Given the description of an element on the screen output the (x, y) to click on. 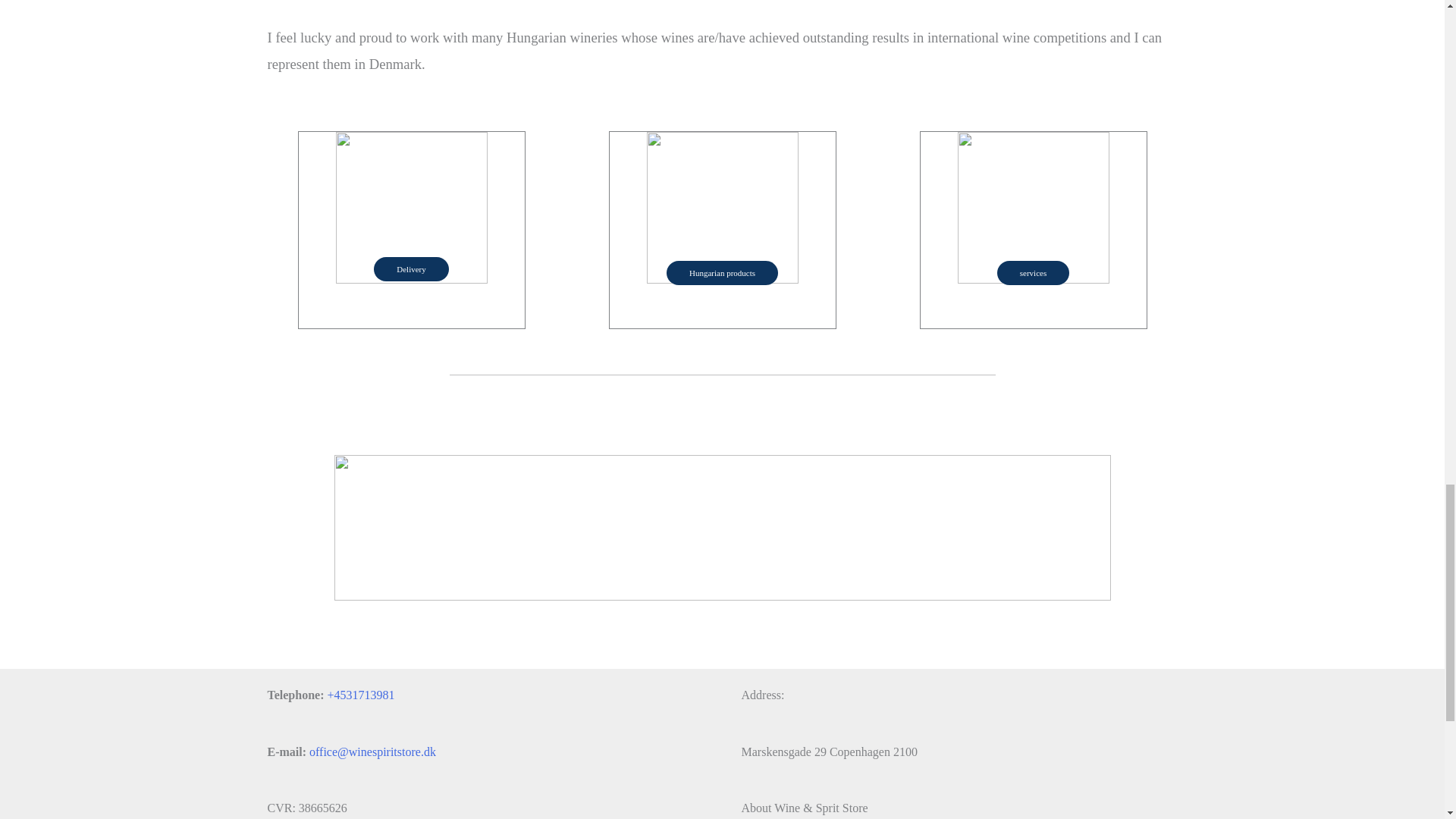
1 (410, 207)
banner-fleksibel-levering-1-300x1600 (721, 527)
3 (1032, 207)
2 (721, 207)
